Given the description of an element on the screen output the (x, y) to click on. 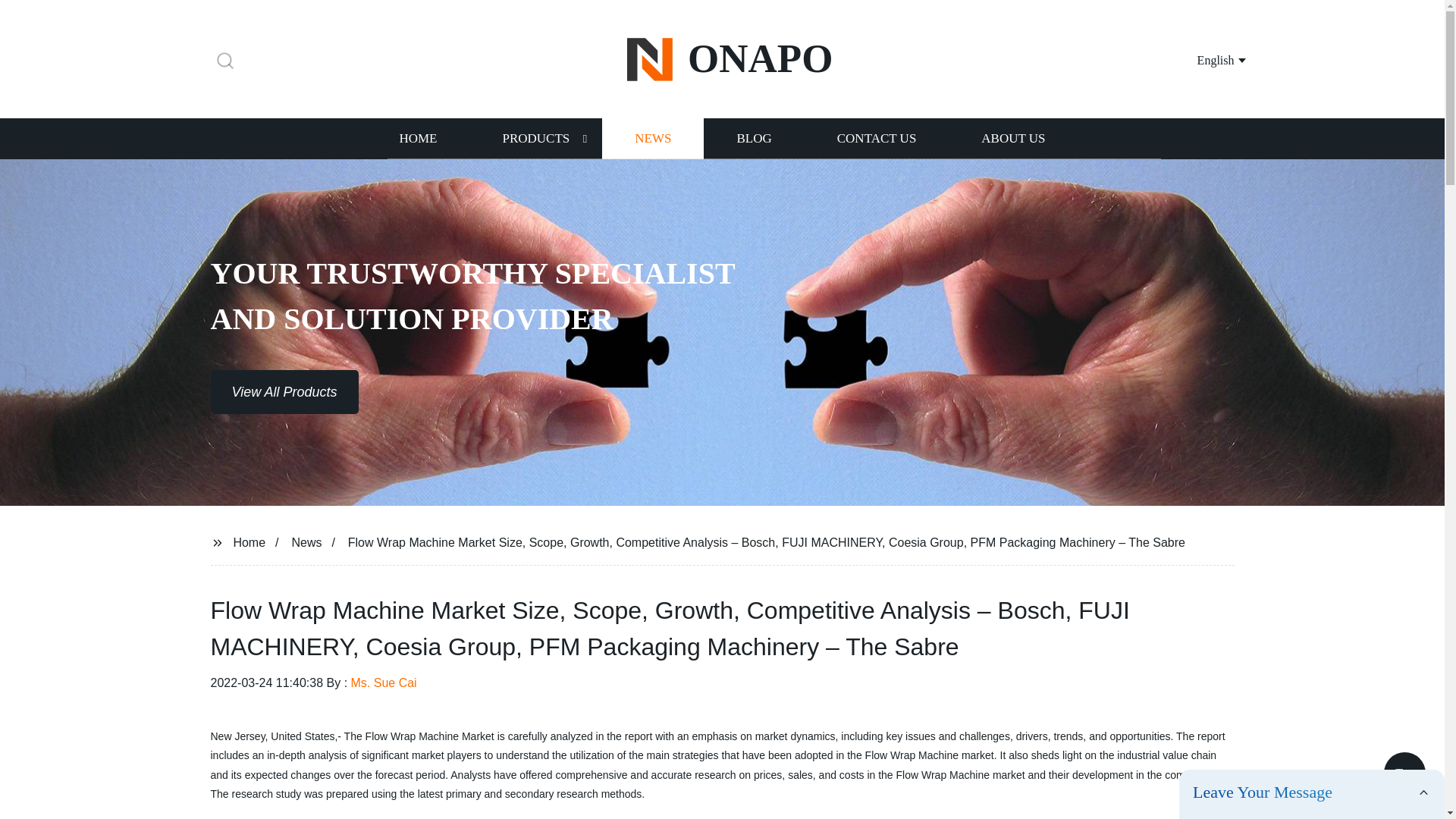
English (1203, 59)
PRODUCTS (535, 137)
CONTACT US (877, 137)
News (306, 541)
NEWS (652, 137)
BLOG (753, 137)
HOME (417, 137)
English (1203, 59)
Top (1404, 774)
ABOUT US (1013, 137)
